Given the description of an element on the screen output the (x, y) to click on. 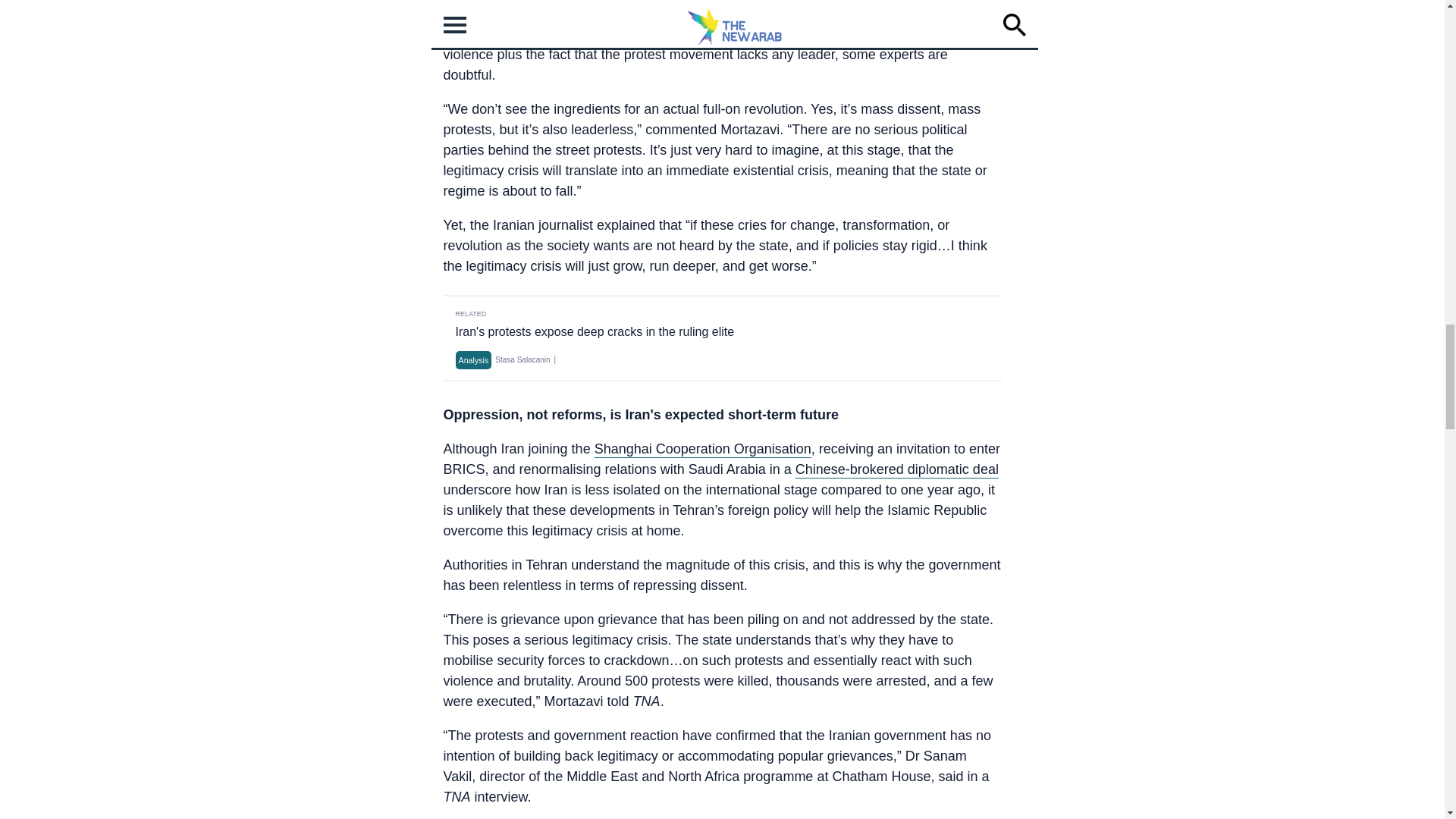
Iran's protests expose deep cracks in the ruling elite (593, 331)
Shanghai Cooperation Organisation (702, 448)
Iran's protests expose deep cracks in the ruling elite (593, 331)
Chinese-brokered diplomatic deal (896, 468)
